Given the description of an element on the screen output the (x, y) to click on. 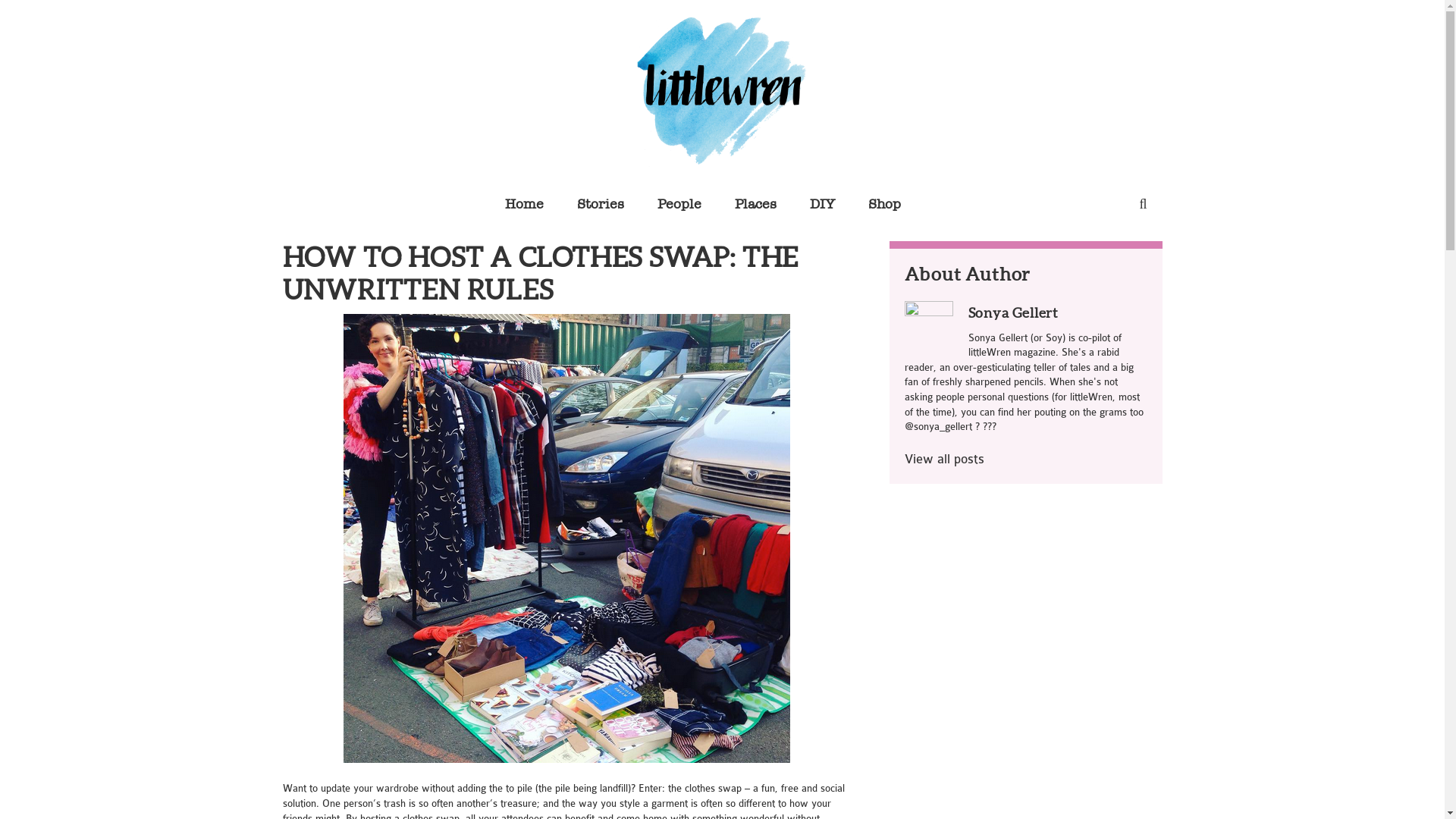
Sonya Gellert Element type: text (1012, 312)
View all posts Element type: text (943, 458)
DIY Element type: text (822, 203)
Home Element type: text (523, 203)
Littlewren Element type: text (721, 90)
Skip to primary navigation Element type: text (0, 0)
Shop Element type: text (884, 203)
Stories Element type: text (600, 203)
People Element type: text (679, 203)
Places Element type: text (755, 203)
